Given the description of an element on the screen output the (x, y) to click on. 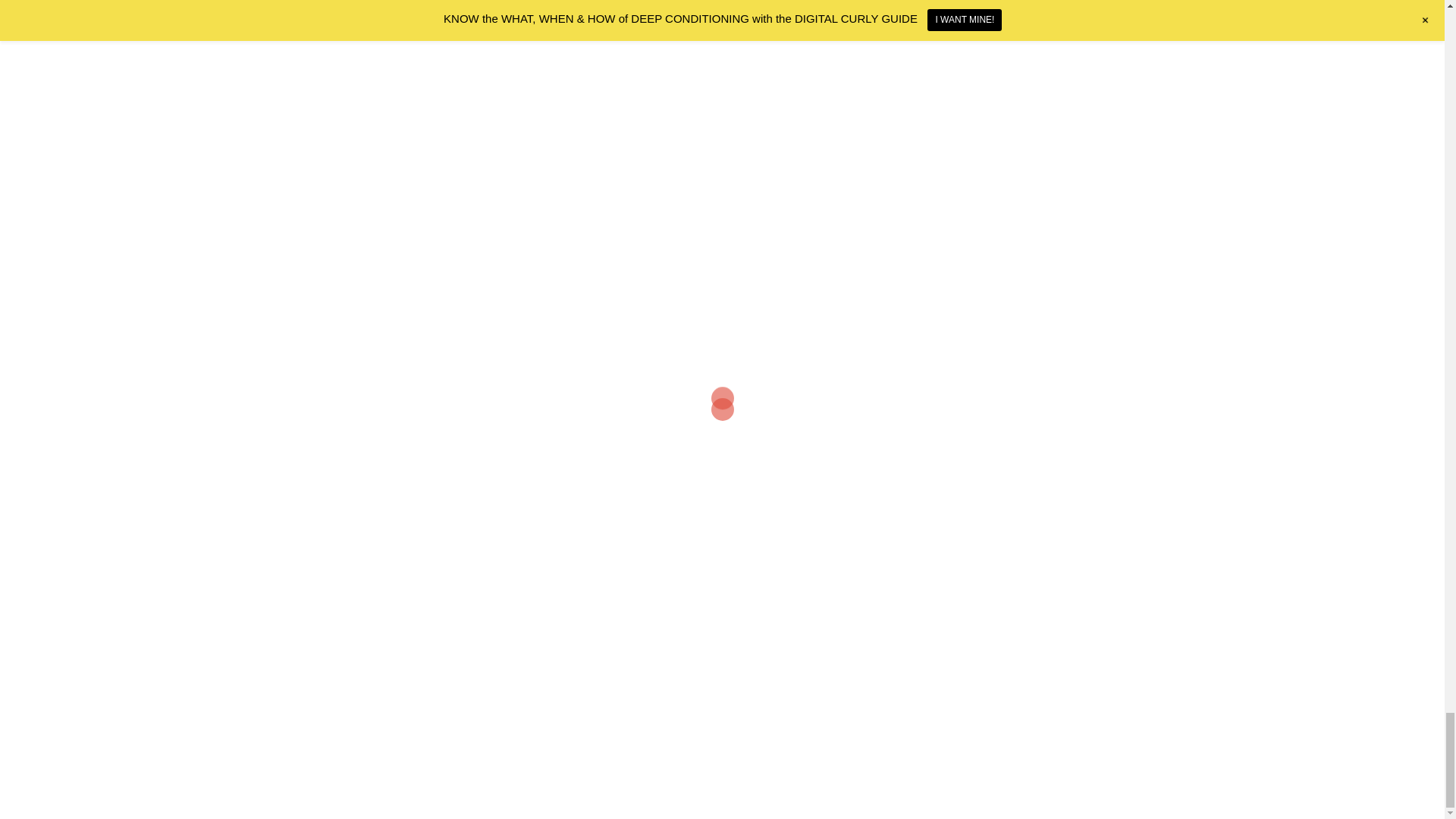
CAPTCHA (370, 101)
Refresh (347, 128)
Post Comment (599, 231)
